Given the description of an element on the screen output the (x, y) to click on. 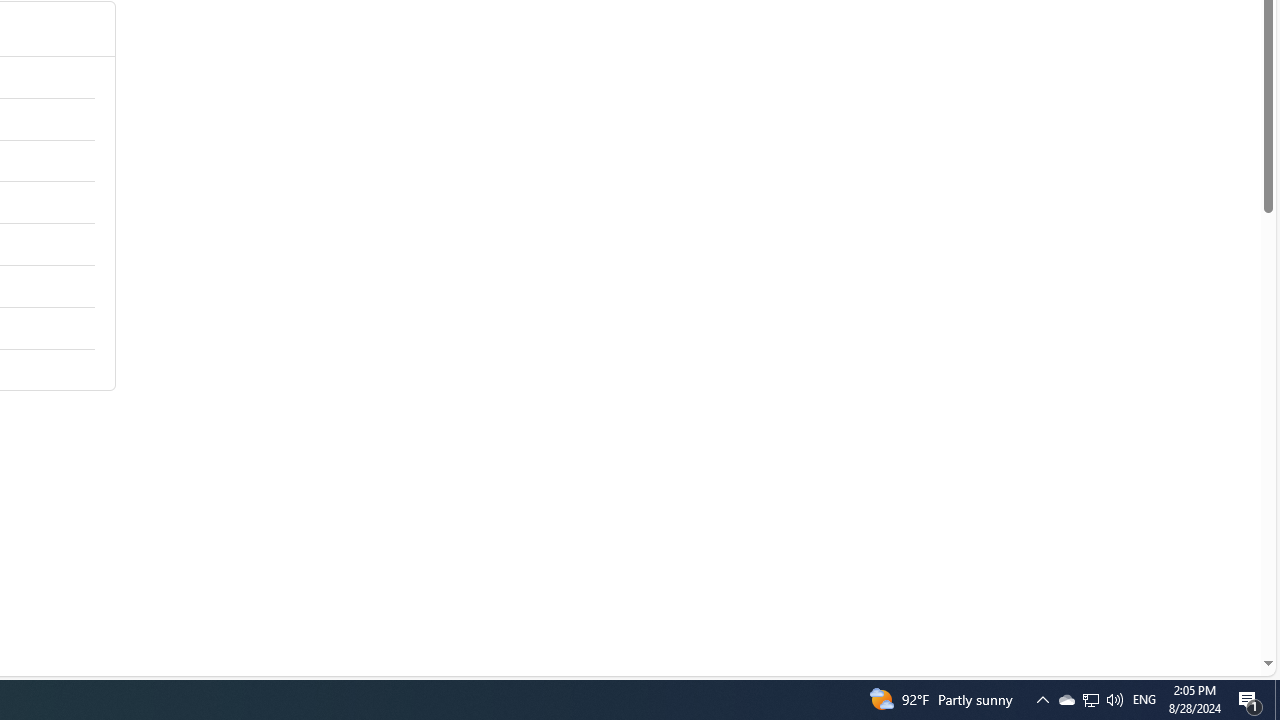
Search more (1222, 604)
AutomationID: mfa_root (1192, 603)
